Given the description of an element on the screen output the (x, y) to click on. 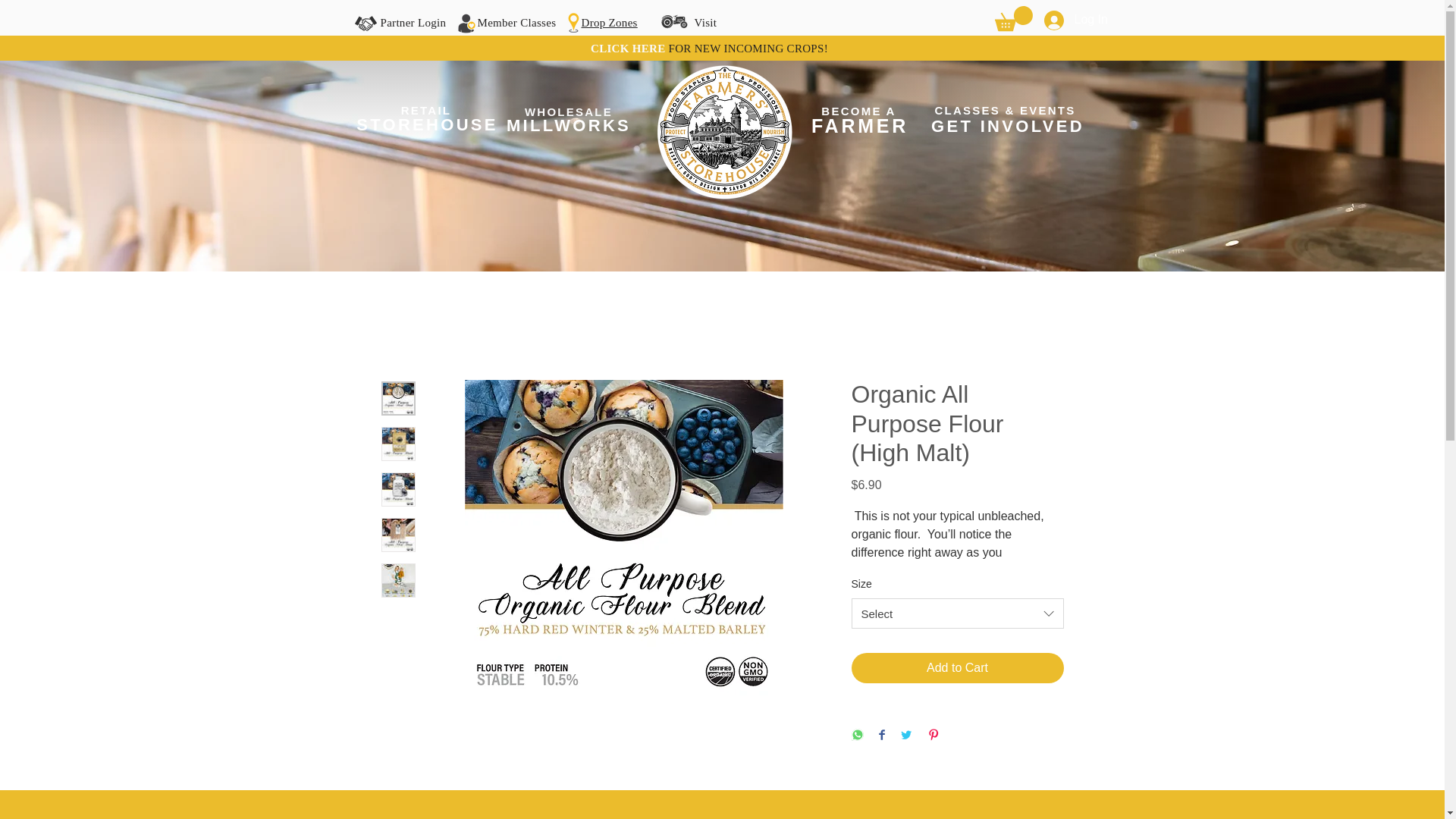
Member Classes (516, 21)
Partner Login (413, 21)
BECOME A (858, 111)
RETAIL (426, 110)
WHOLESALE (567, 112)
Log In (1061, 20)
FARMER (859, 125)
STOREHOUSE (427, 125)
MILLWORKS (568, 125)
Visit (705, 21)
